Given the description of an element on the screen output the (x, y) to click on. 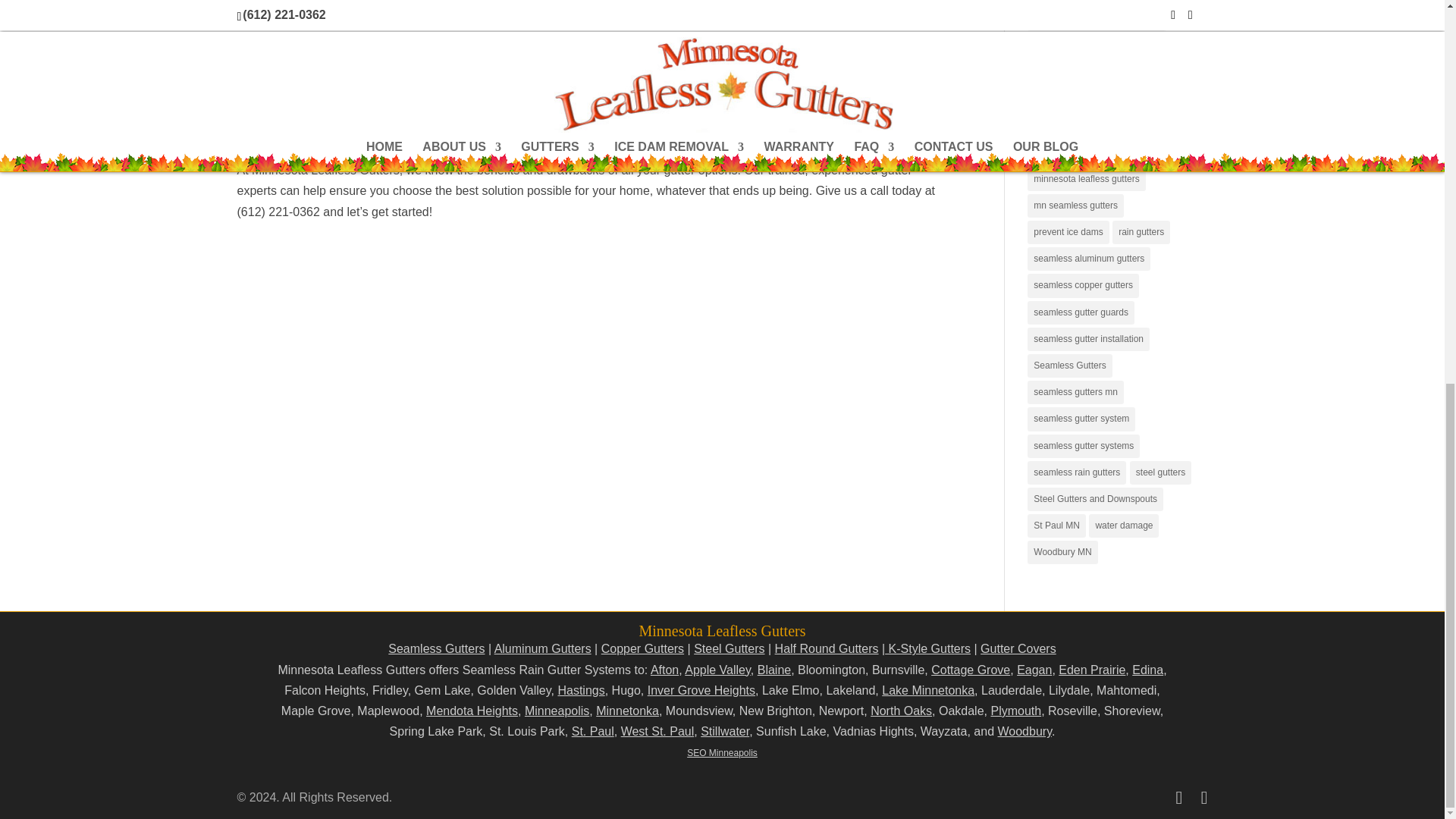
Leafless Seamless Gutters North Oaks (900, 710)
Seamless Gutters St Paul MN (593, 730)
Leafless Seamless Gutters Minnetonka MN (627, 710)
Minneapolis Search Engine Optimization Services (722, 752)
Leafless Seamless Gutters Cottage Grove MN (970, 669)
Seamless Gutter Guards Woodbury MN (1024, 730)
Seamless Gutters Minneapolis (556, 710)
Seamless Gutters West St Paul MN (657, 730)
Seamless Gutters Inver Grove Heights (701, 689)
Leafless Seamless Gutters Afton MN (664, 669)
